Given the description of an element on the screen output the (x, y) to click on. 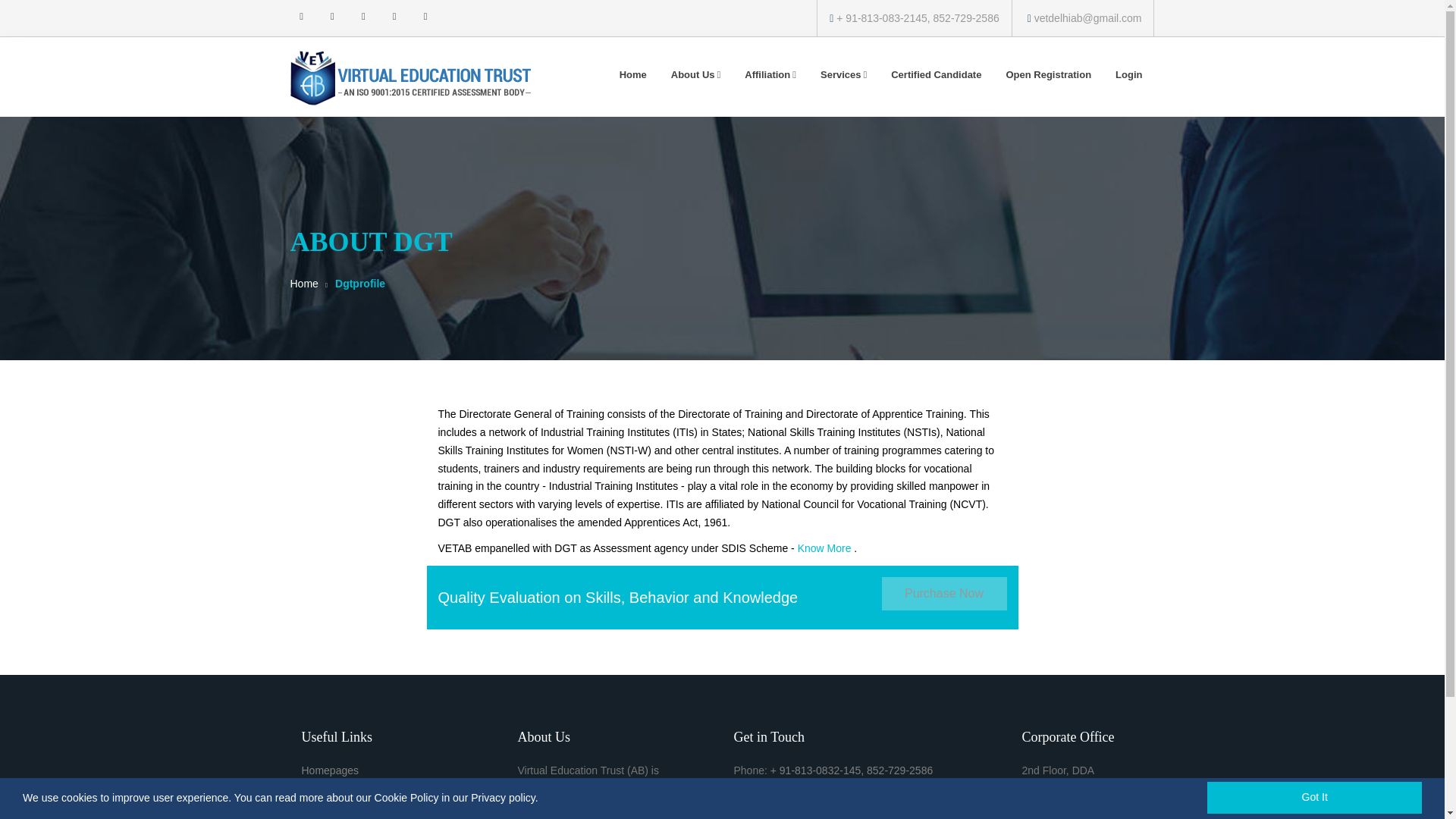
Portfolio (320, 817)
Home (303, 283)
Home (633, 75)
Services (843, 75)
Open Registration (1047, 75)
Affiliation (770, 75)
Know More (824, 548)
Purchase Now (943, 593)
Certified Candidate (935, 75)
Login (1128, 75)
Homepages (330, 770)
About Us (696, 75)
About Us (323, 796)
Got It (1314, 797)
